Given the description of an element on the screen output the (x, y) to click on. 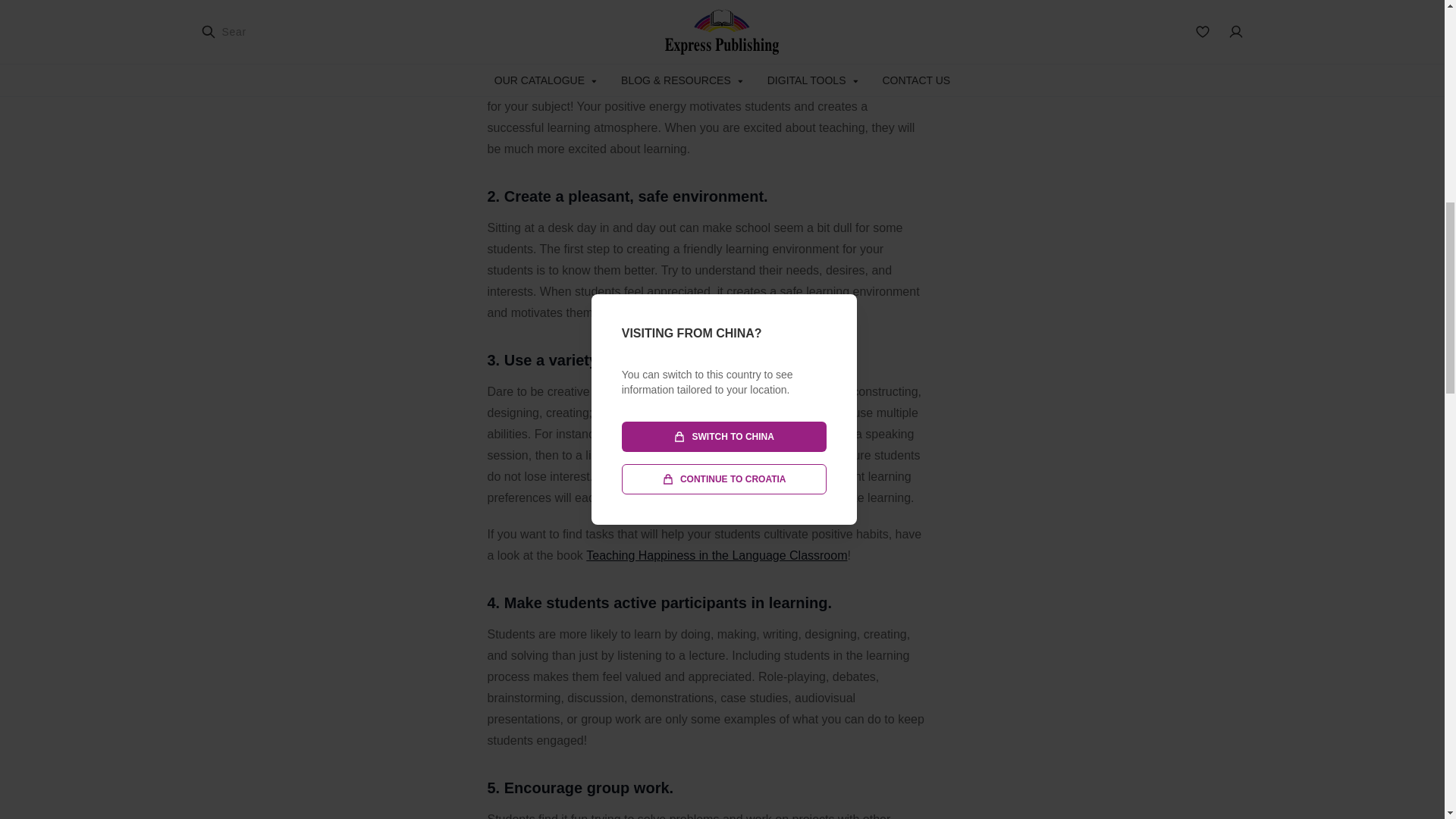
Teaching Happiness in the Language Classroom (716, 554)
